Given the description of an element on the screen output the (x, y) to click on. 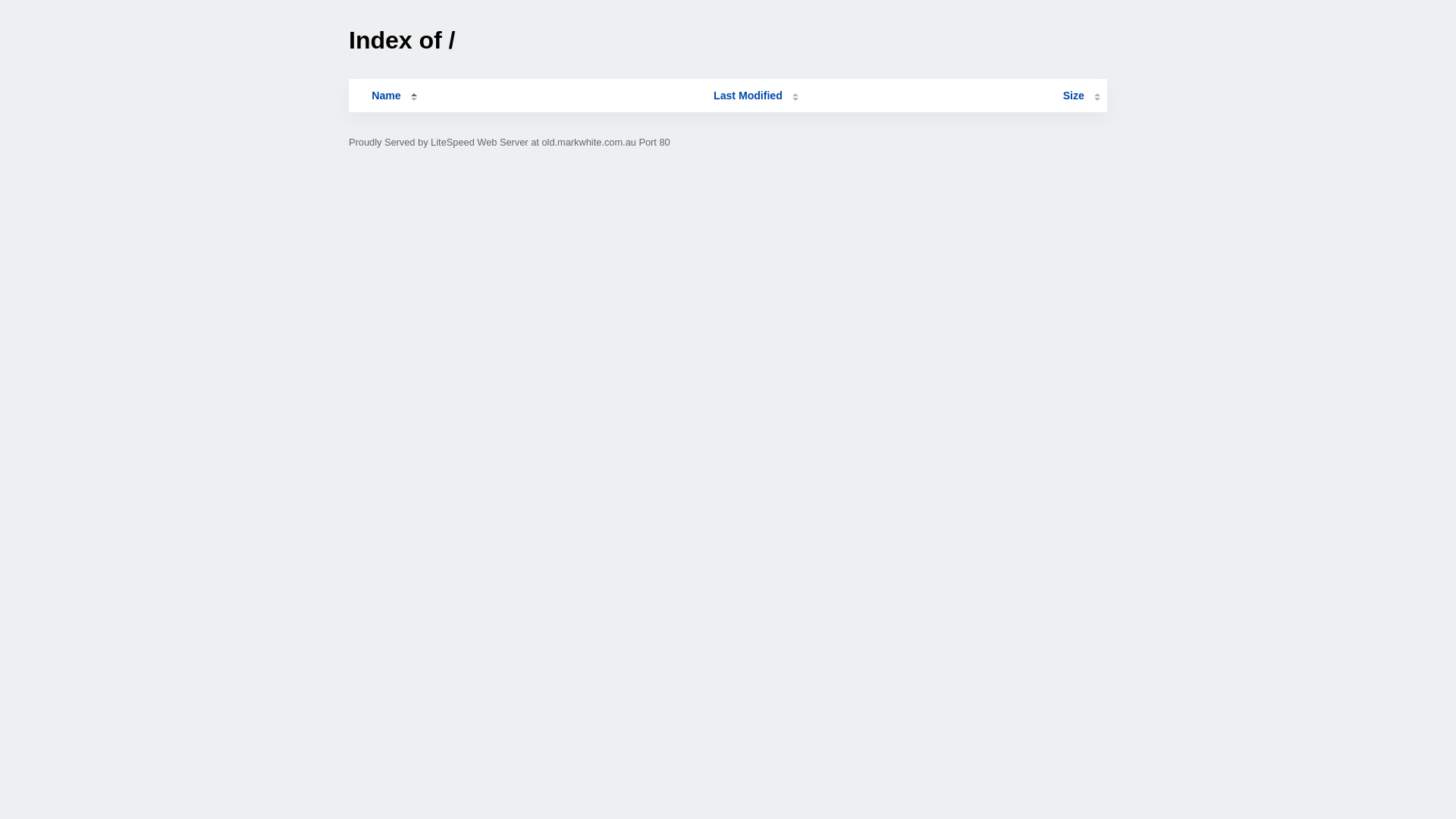
Name Element type: text (385, 95)
Size Element type: text (1081, 95)
Last Modified Element type: text (755, 95)
